Given the description of an element on the screen output the (x, y) to click on. 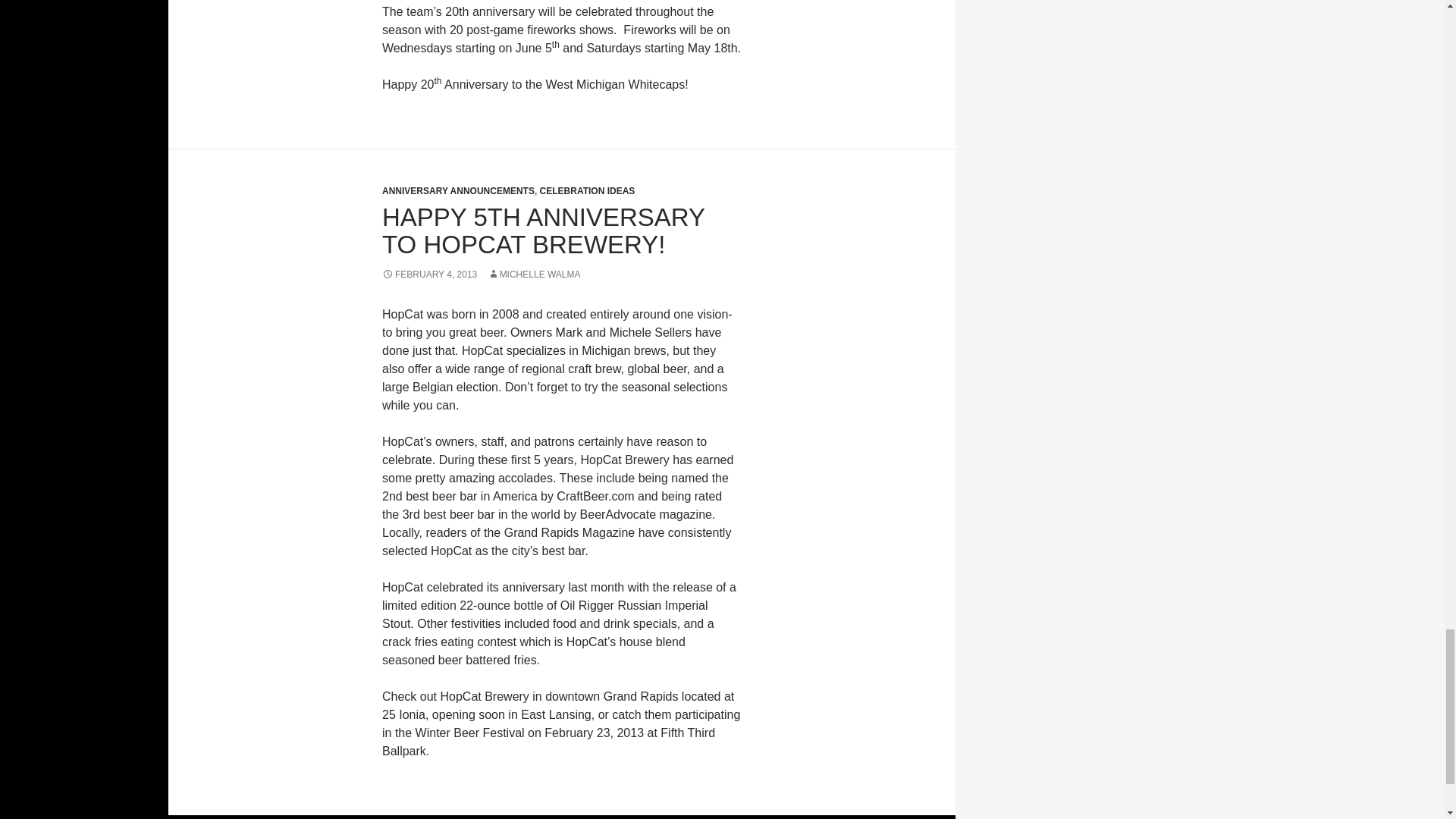
ANNIVERSARY ANNOUNCEMENTS (457, 190)
HAPPY 5TH ANNIVERSARY TO HOPCAT BREWERY! (542, 230)
CELEBRATION IDEAS (587, 190)
MICHELLE WALMA (533, 274)
FEBRUARY 4, 2013 (429, 274)
